Given the description of an element on the screen output the (x, y) to click on. 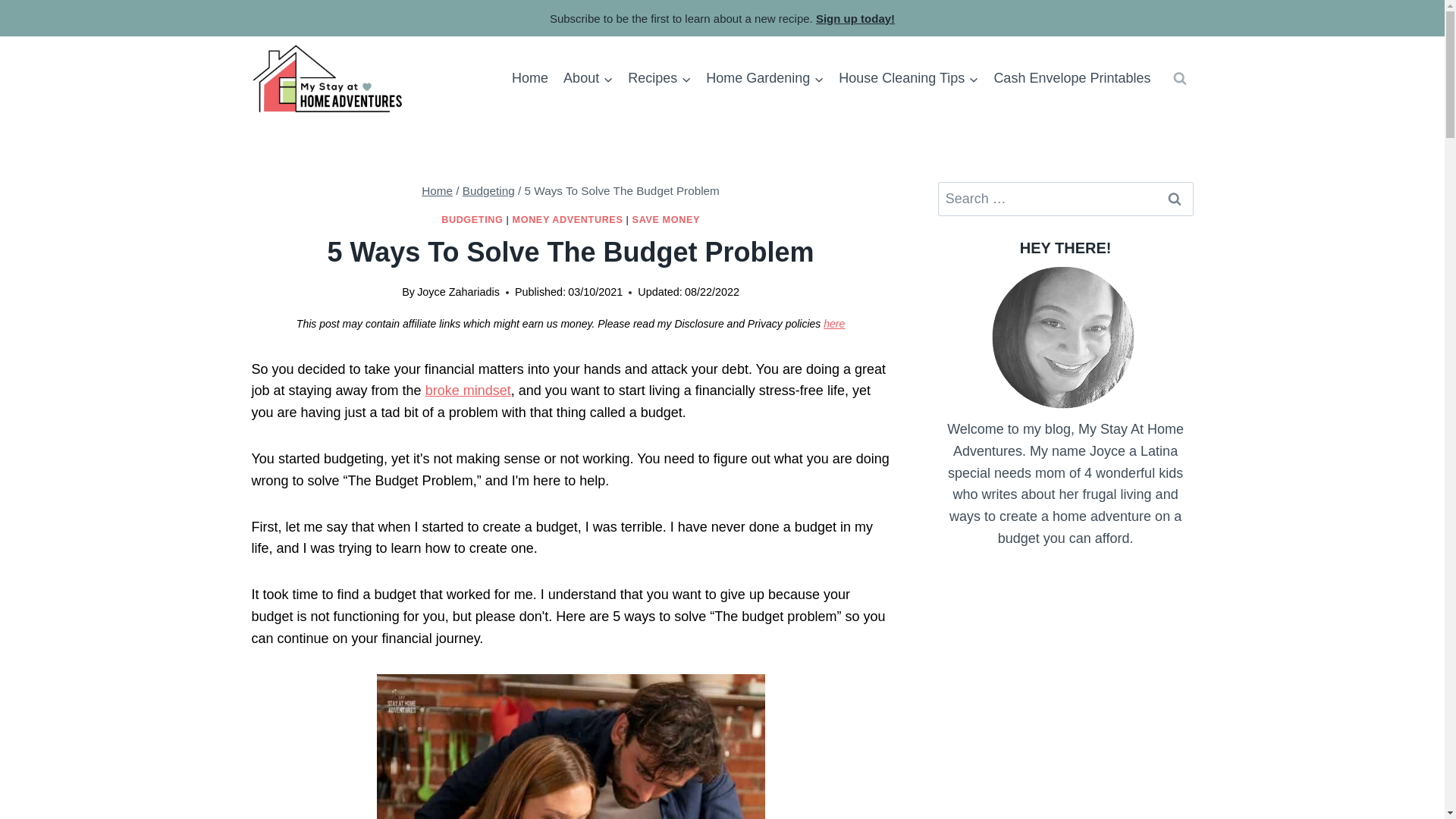
Recipes (659, 78)
Sign up today! (855, 18)
Cash Envelope Printables (1071, 78)
SAVE MONEY (665, 219)
Home (529, 78)
Joyce Zahariadis (457, 291)
Home Gardening (764, 78)
Home (437, 190)
broke mindset (468, 390)
BUDGETING (471, 219)
